Given the description of an element on the screen output the (x, y) to click on. 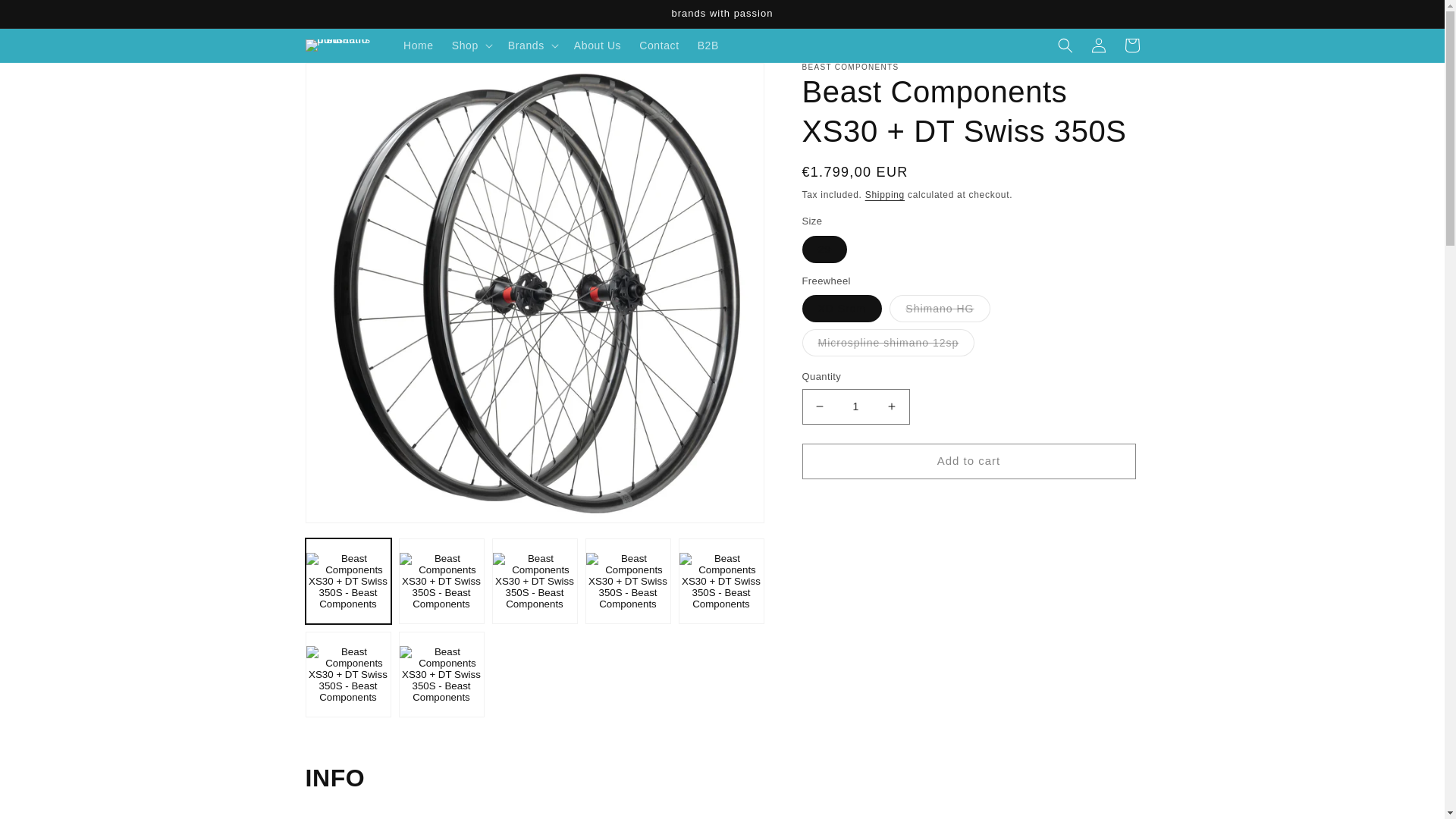
Skip to content (45, 17)
1 (856, 407)
